Given the description of an element on the screen output the (x, y) to click on. 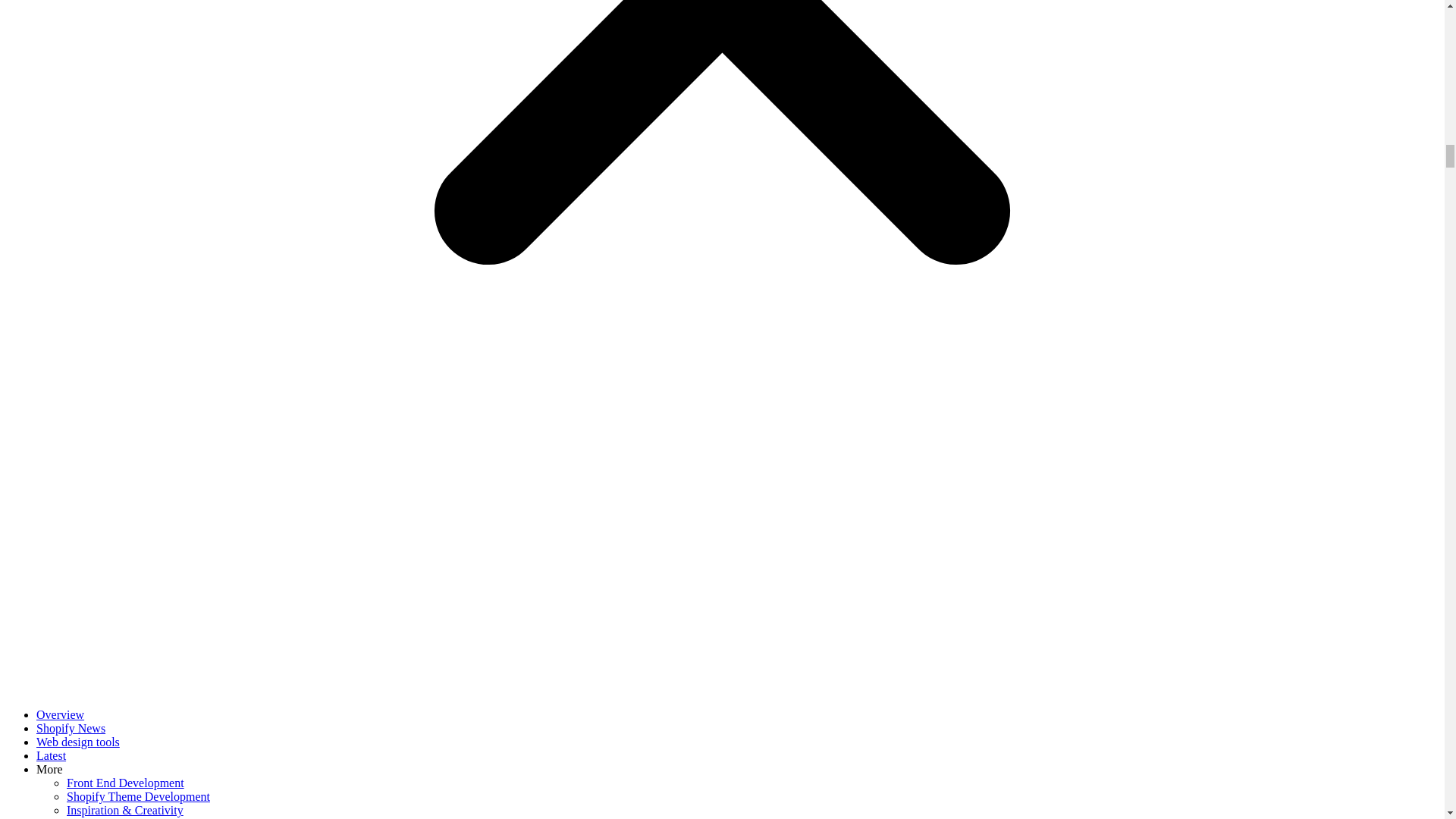
Shopify Theme Development (137, 796)
Shopify News (70, 727)
Latest (50, 755)
Overview (60, 714)
Web design tools (77, 741)
Finding New Clients (116, 818)
Front End Development (125, 782)
